Given the description of an element on the screen output the (x, y) to click on. 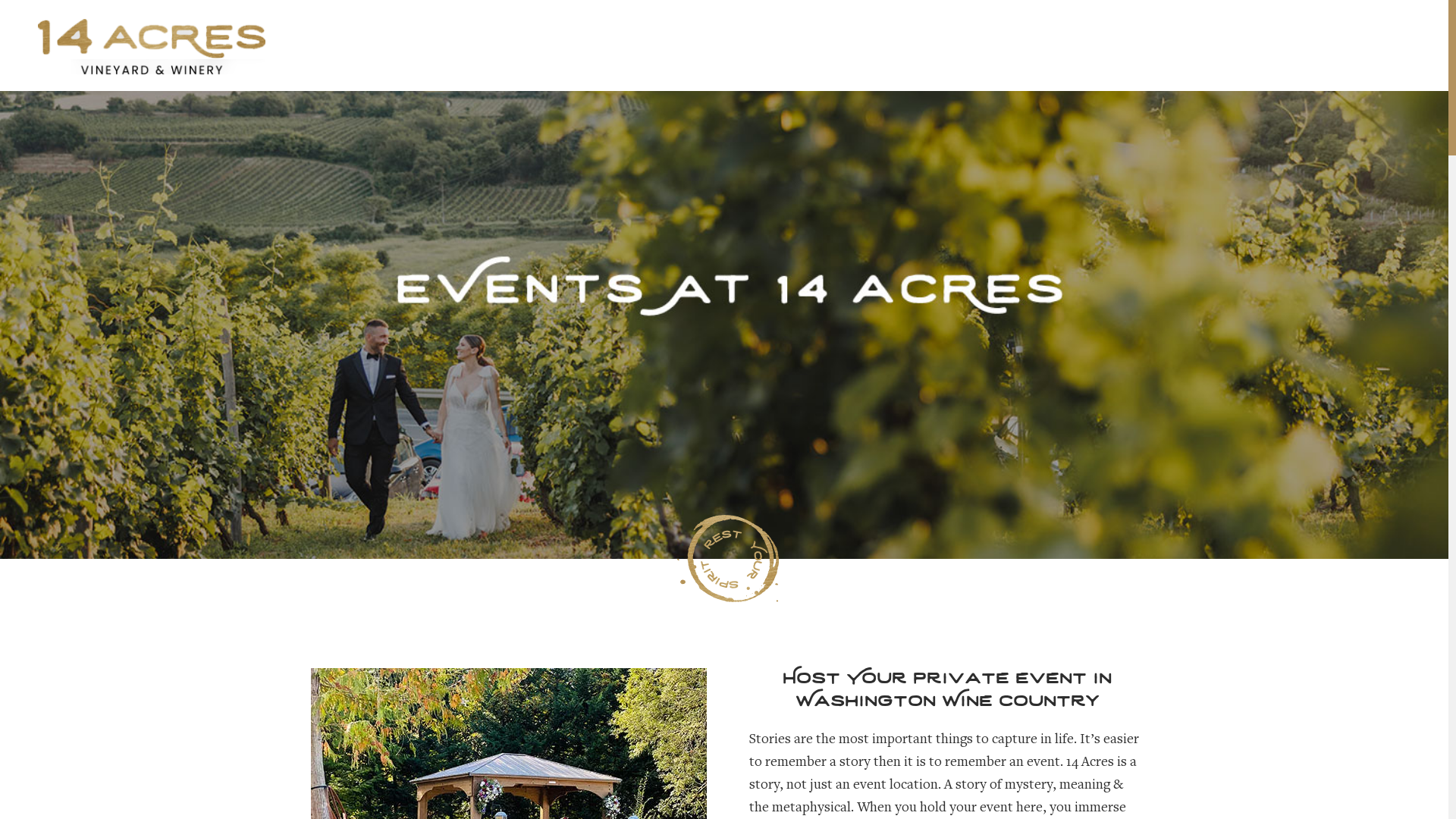
seal Element type: hover (727, 558)
